Given the description of an element on the screen output the (x, y) to click on. 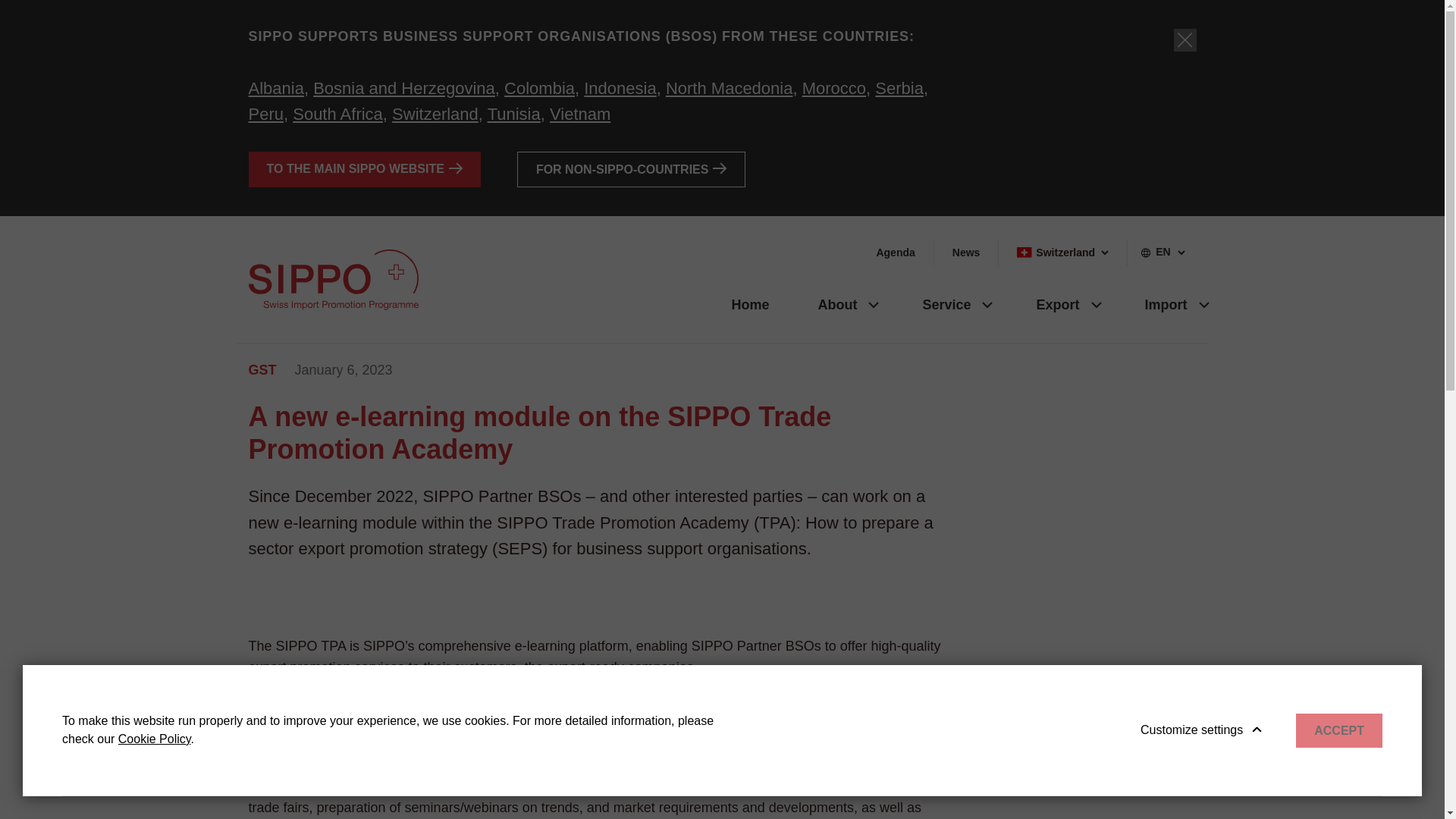
Export (1050, 304)
North Macedonia (729, 87)
Switzerland (435, 113)
SIPPO (333, 279)
Home (749, 304)
Serbia (899, 87)
FOR NON-SIPPO-COUNTRIES (630, 169)
Vietnam (580, 113)
Bosnia and Herzegovina (404, 87)
Home (749, 304)
